Given the description of an element on the screen output the (x, y) to click on. 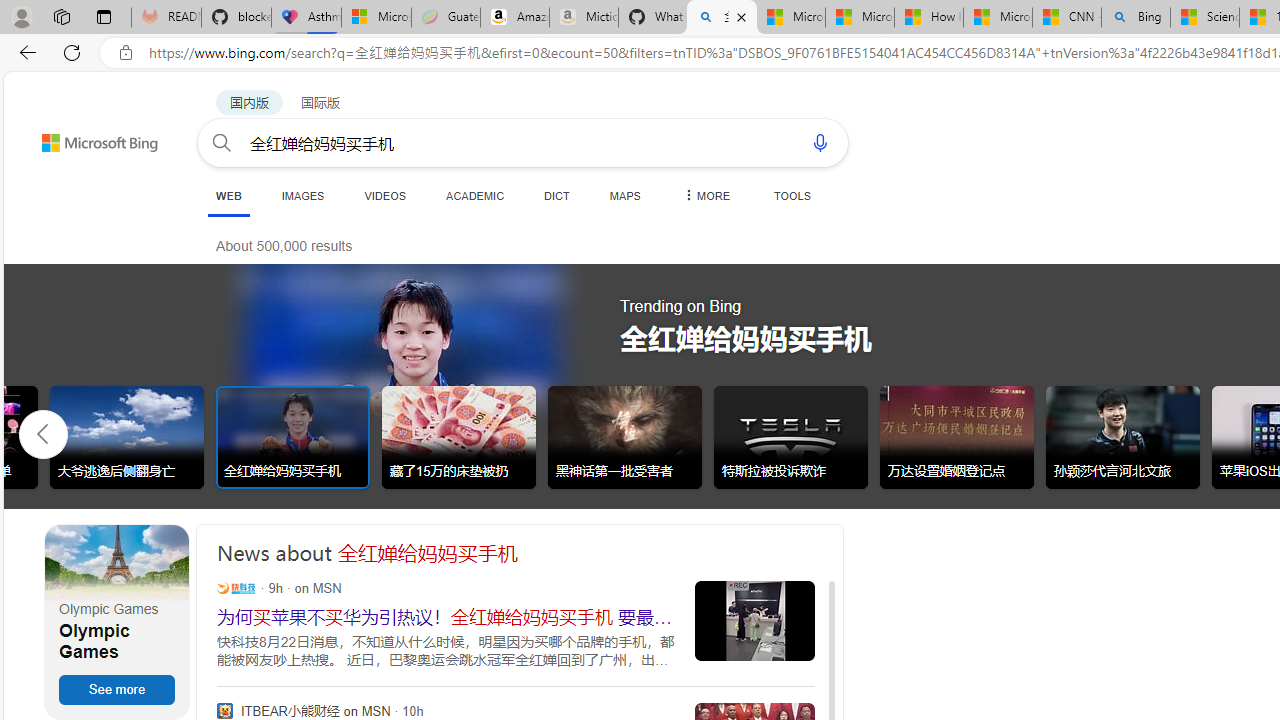
Personal Profile (21, 16)
MAPS (624, 195)
TOOLS (792, 195)
Close tab (741, 16)
Tab actions menu (104, 16)
Bing (1135, 17)
CNN - MSN (1066, 17)
DICT (557, 195)
Skip to content (63, 133)
Dropdown Menu (705, 195)
